Given the description of an element on the screen output the (x, y) to click on. 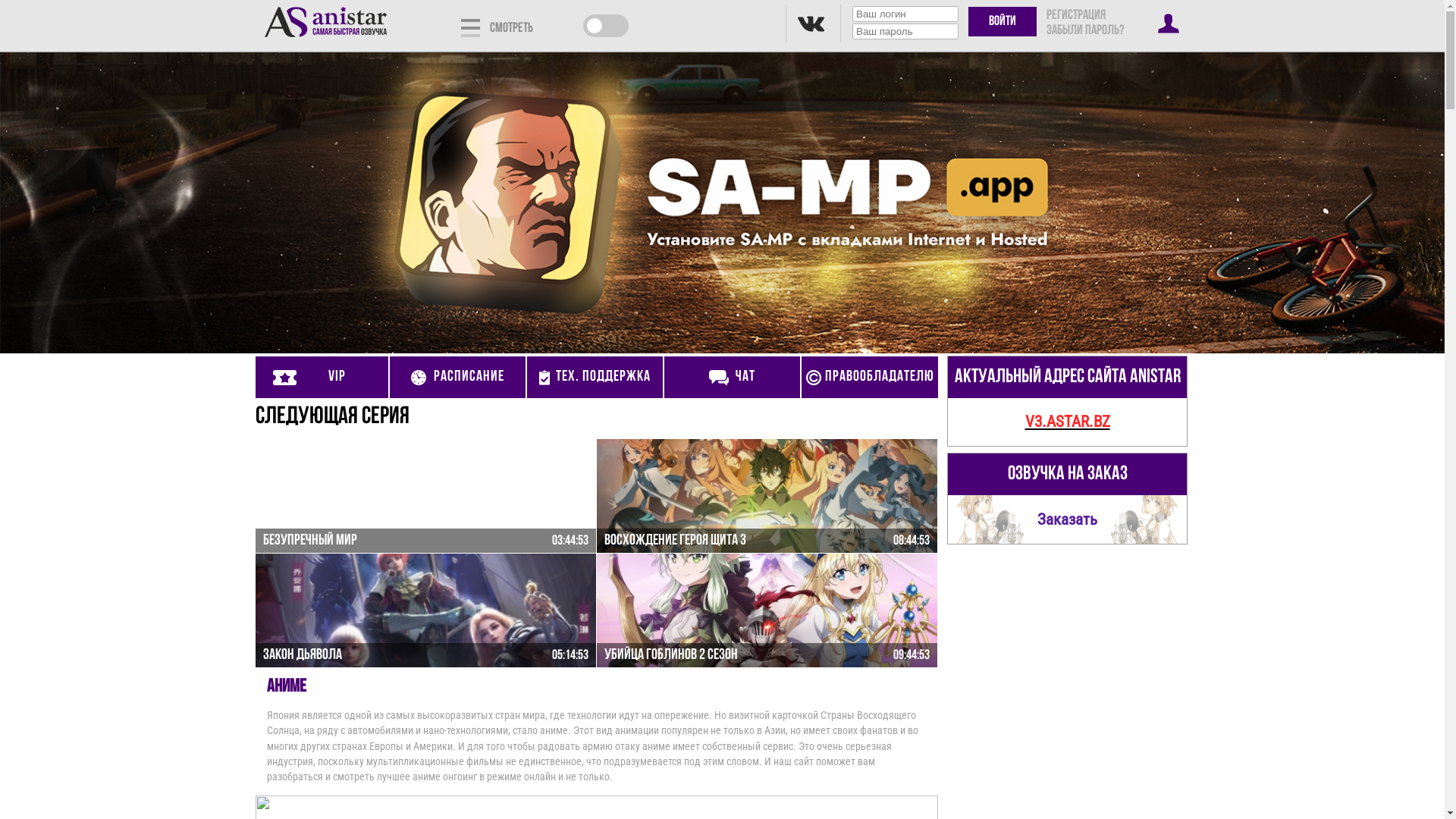
0 Element type: text (594, 25)
0 Element type: text (616, 25)
V3.ASTAR.BZ Element type: text (1067, 420)
Menu Element type: text (470, 26)
VIP Element type: text (321, 377)
